Given the description of an element on the screen output the (x, y) to click on. 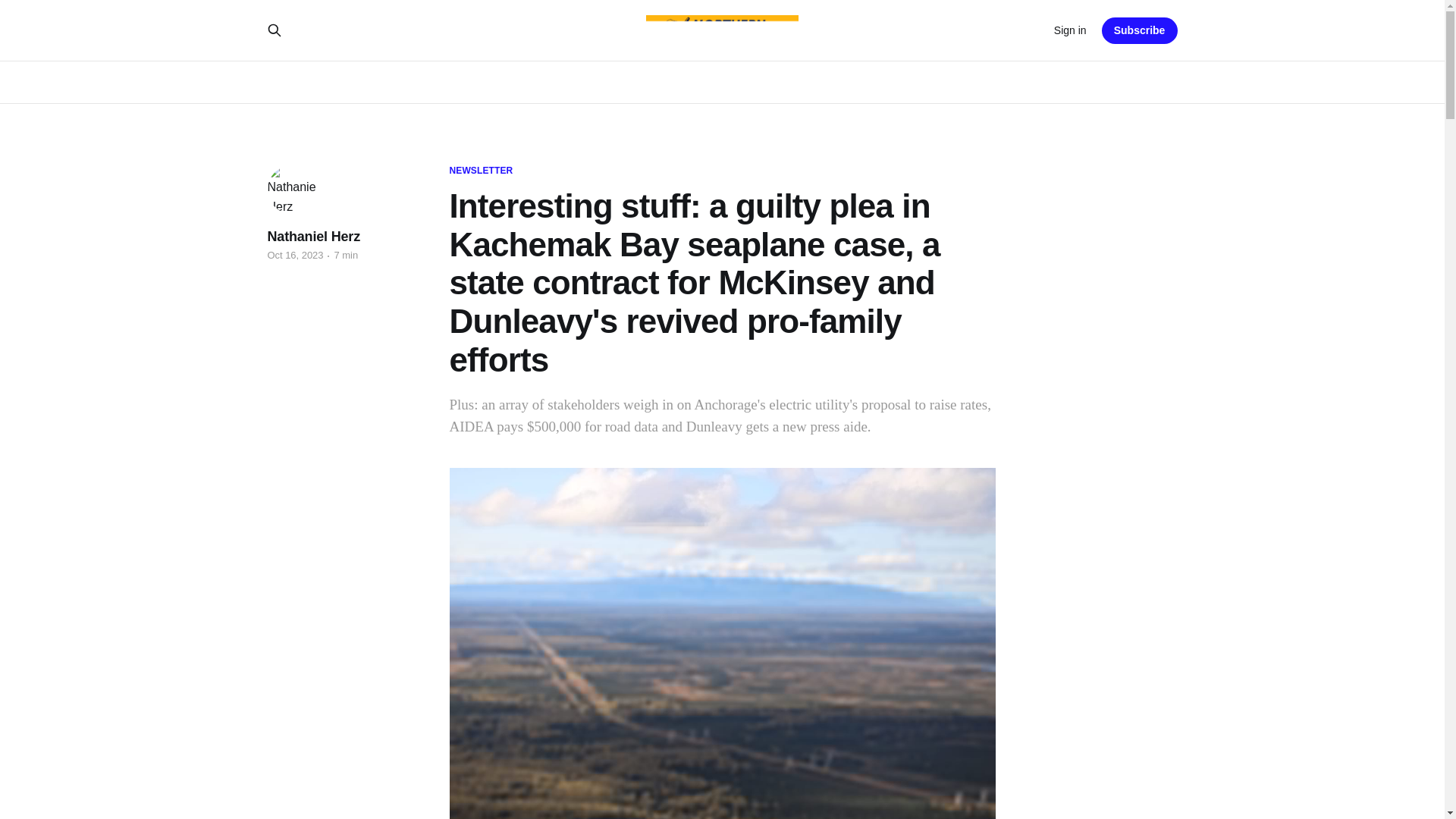
Sign in (1070, 30)
Nathaniel Herz (312, 236)
Subscribe (1139, 29)
NEWSLETTER (480, 170)
